Given the description of an element on the screen output the (x, y) to click on. 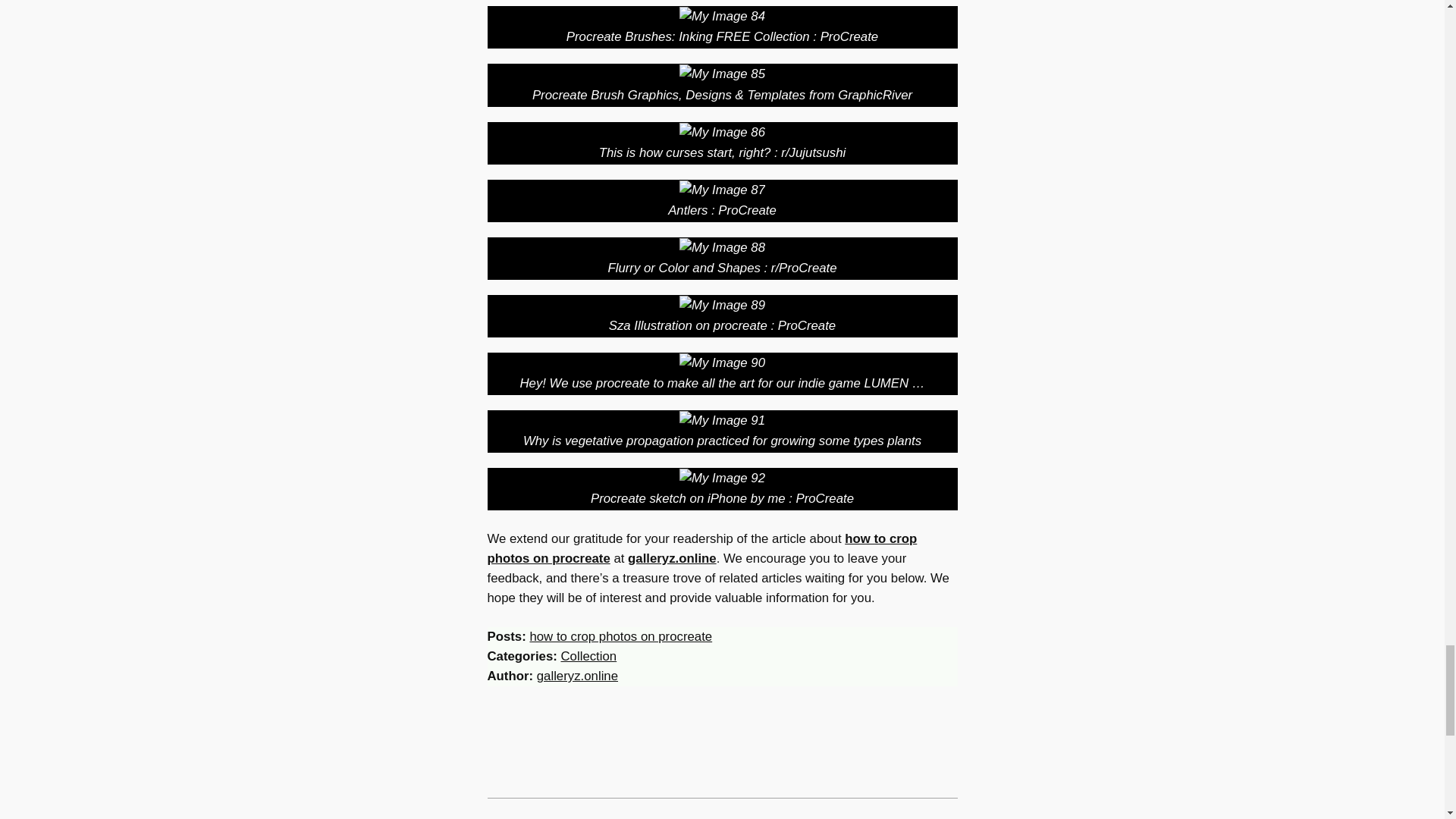
how to crop photos on procreate (620, 636)
how to crop photos on procreate (701, 548)
Collection (587, 656)
galleryz.online (577, 676)
galleryz.online (671, 558)
